Given the description of an element on the screen output the (x, y) to click on. 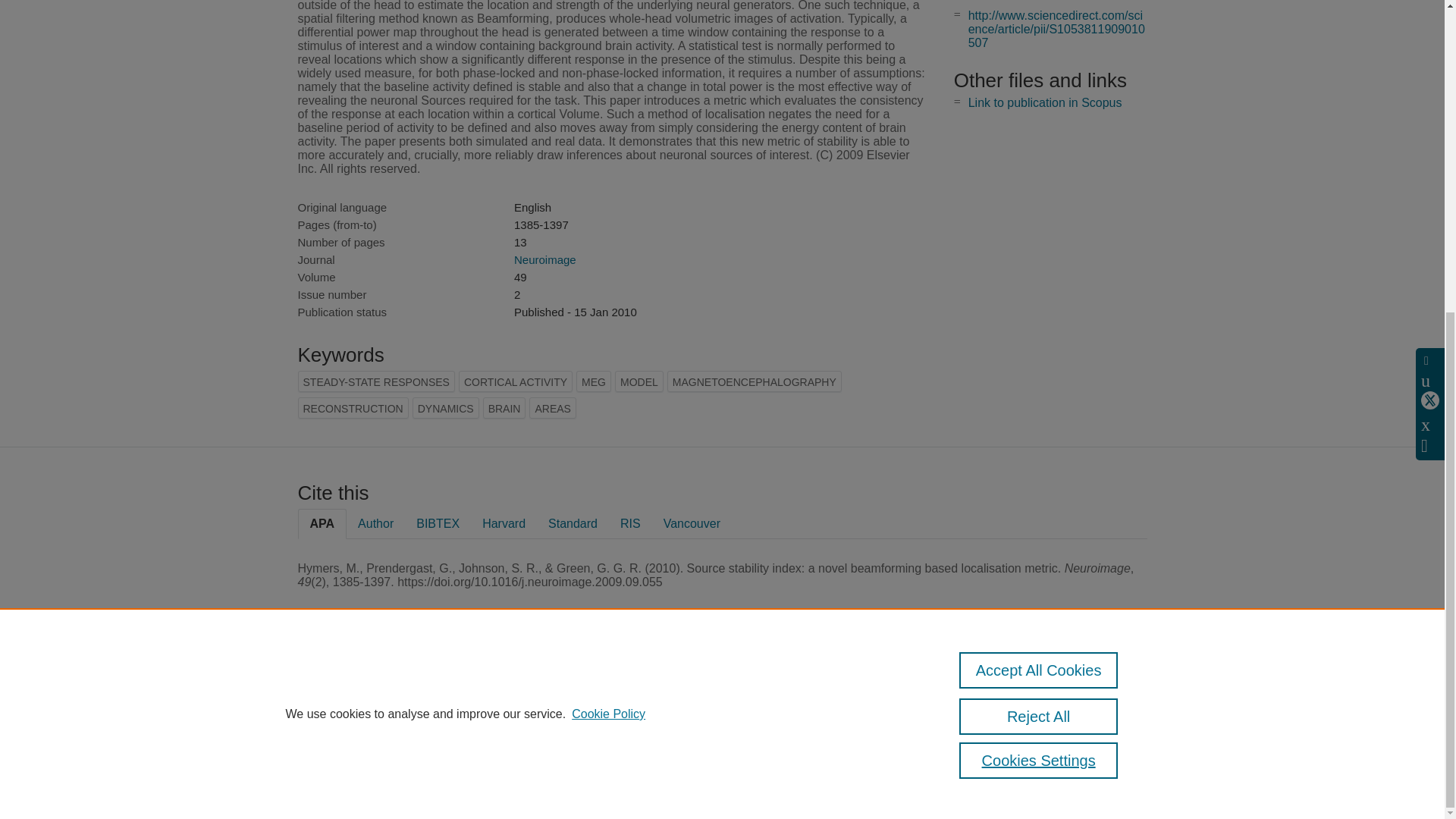
Elsevier B.V. (506, 708)
use of cookies (796, 740)
Link to publication in Scopus (1045, 102)
Cookies Settings (334, 761)
Pure (362, 687)
York Research Database data protection policy (1009, 693)
Scopus (394, 687)
Neuroimage (544, 259)
Log in to Pure (327, 781)
